Given the description of an element on the screen output the (x, y) to click on. 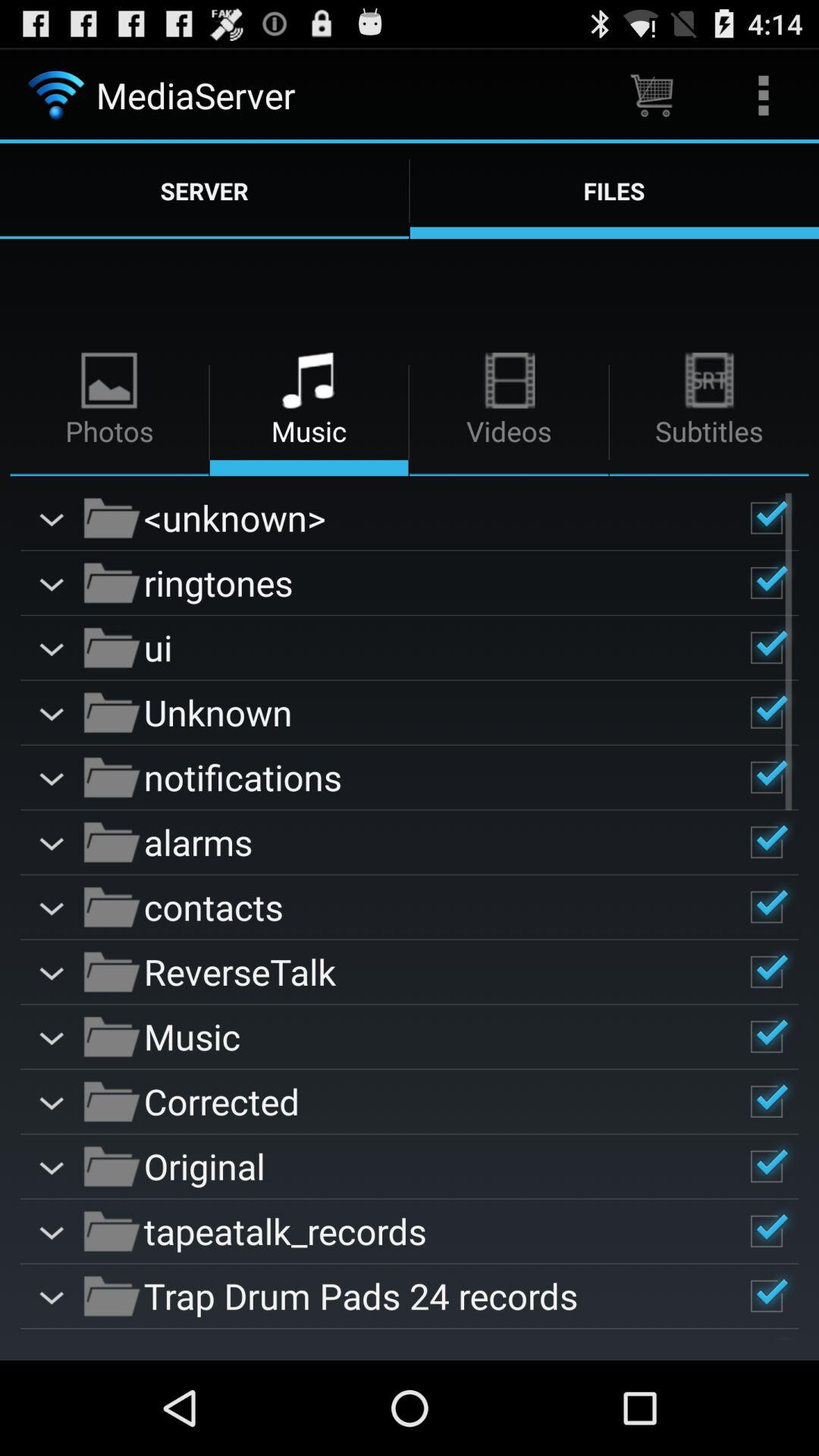
click on the icons beside alarms (112, 842)
click on the icon beside contacts (112, 907)
click on the fourth checkbox from the bottom (766, 1102)
